Given the description of an element on the screen output the (x, y) to click on. 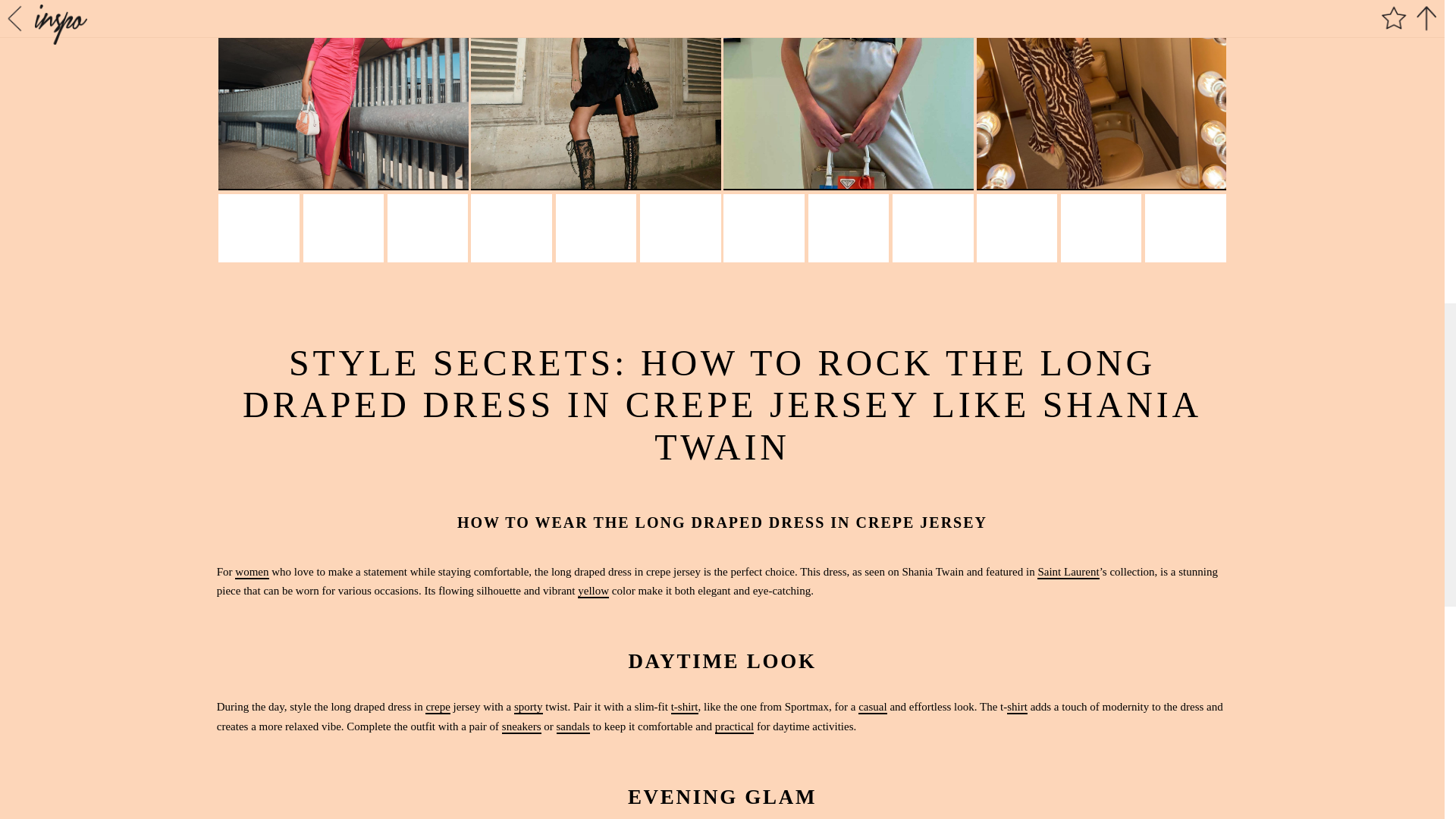
pinterest share (645, 636)
e (821, 636)
c (881, 636)
casual (872, 707)
Share on Whatsapp (762, 636)
f (585, 636)
Share on facebook (585, 636)
crepe (437, 707)
Send via Email (821, 636)
 copy (881, 636)
